Given the description of an element on the screen output the (x, y) to click on. 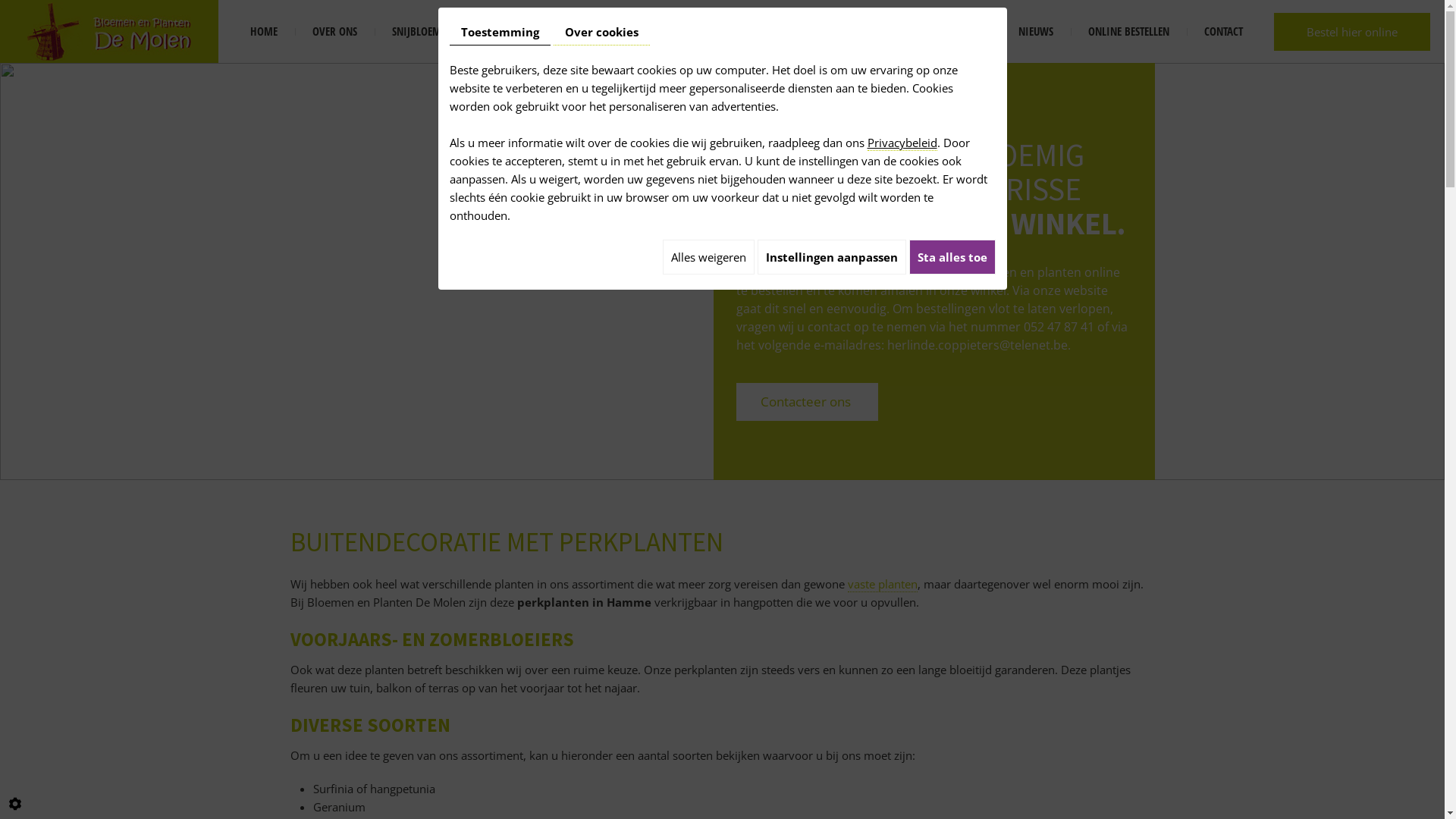
PERKPLANTEN Element type: text (728, 31)
DECORATIE Element type: text (960, 31)
Privacybeleid Element type: text (902, 142)
Cookie-instelling bewerken Element type: text (14, 803)
Bloemen De Molen - Bloemen & Planten De Molen  Element type: hover (109, 29)
Instellingen aanpassen Element type: text (830, 256)
HOME Element type: text (263, 31)
Sta alles toe Element type: text (951, 256)
NIEUWS Element type: text (1035, 31)
SNIJBLOEMEN Element type: text (422, 31)
ROUW- EN BRUIDSWERK Element type: text (847, 31)
Over cookies Element type: text (601, 31)
Alles weigeren Element type: text (708, 256)
ONLINE BESTELLEN Element type: text (1128, 31)
Bestel hier online Element type: text (1352, 31)
BINNENPLANTEN Element type: text (524, 31)
vaste planten Element type: text (882, 584)
VASTE PLANTEN Element type: text (629, 31)
CONTACT Element type: text (1223, 31)
Contacteer ons  Element type: text (806, 401)
OVER ONS Element type: text (334, 31)
Toestemming Element type: text (498, 31)
